Given the description of an element on the screen output the (x, y) to click on. 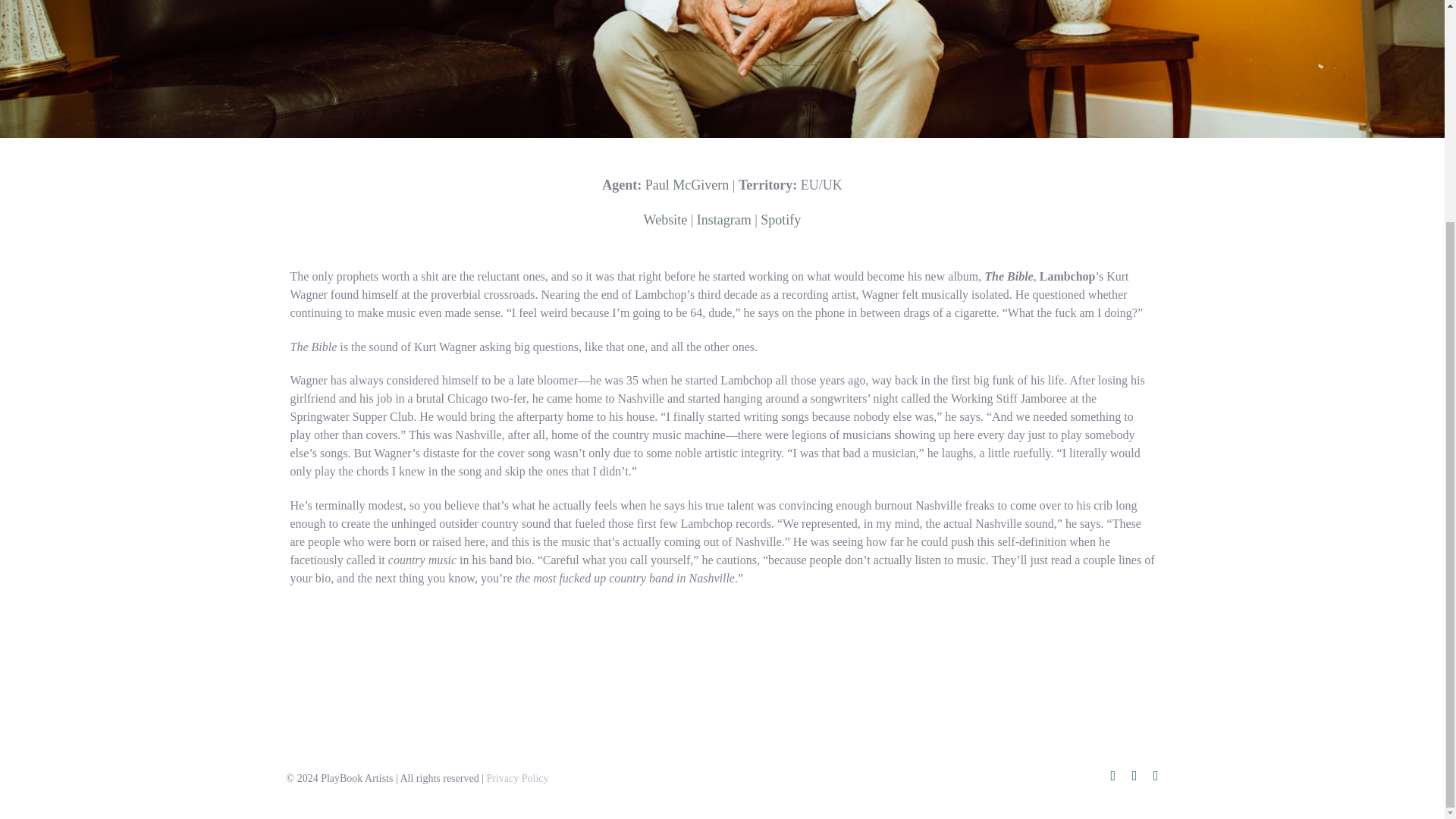
Privacy Policy (517, 778)
Instagram (724, 219)
Paul McGivern (687, 184)
Website (665, 219)
Spotify (780, 219)
